Given the description of an element on the screen output the (x, y) to click on. 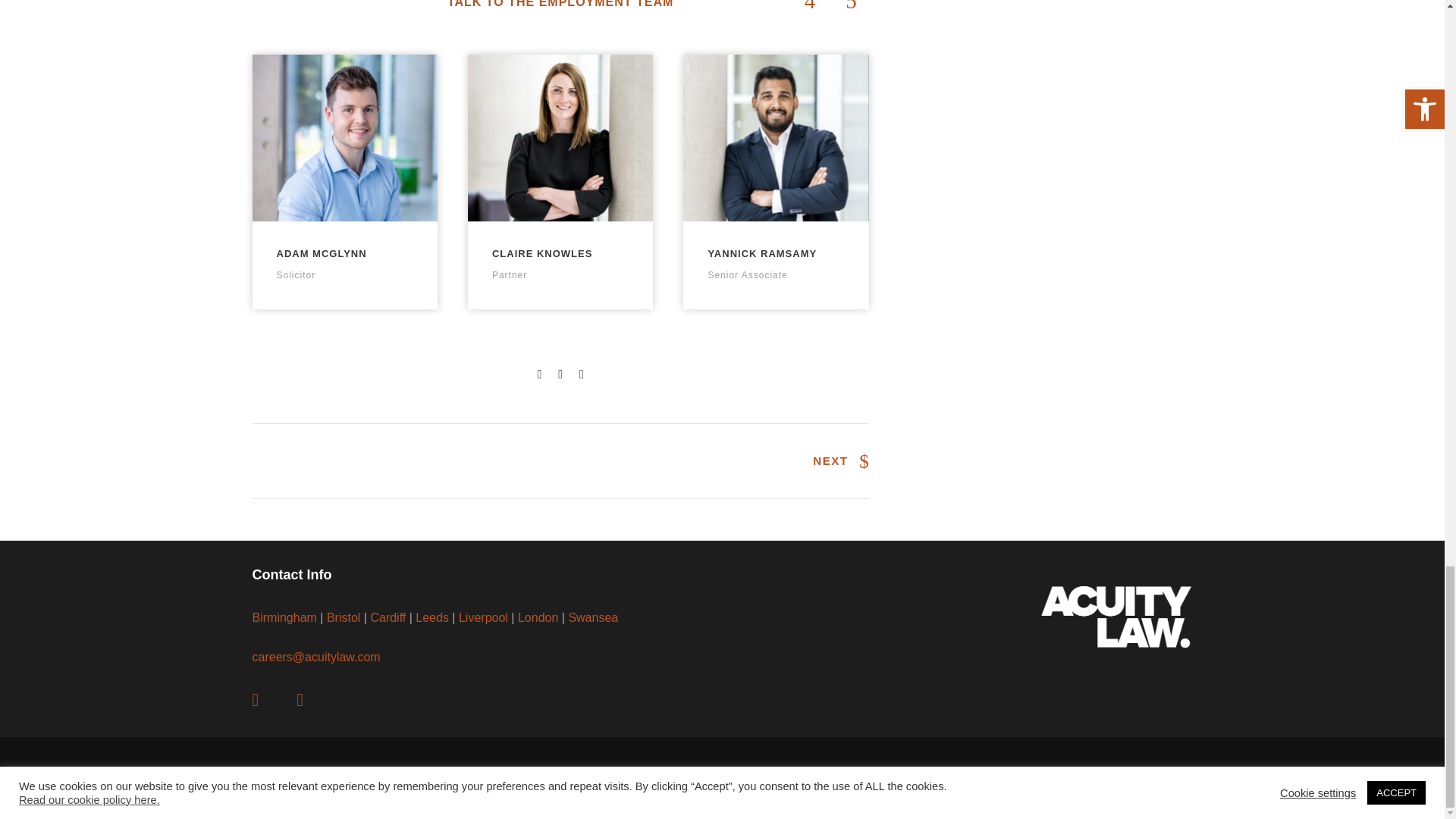
Claire Knowles (559, 137)
twitter (311, 701)
Hello Acuity (315, 656)
Adam McGlynn (343, 137)
Yannick Ramsamy (774, 137)
Acuity Legal Swansea (592, 617)
linkedin (266, 701)
